Given the description of an element on the screen output the (x, y) to click on. 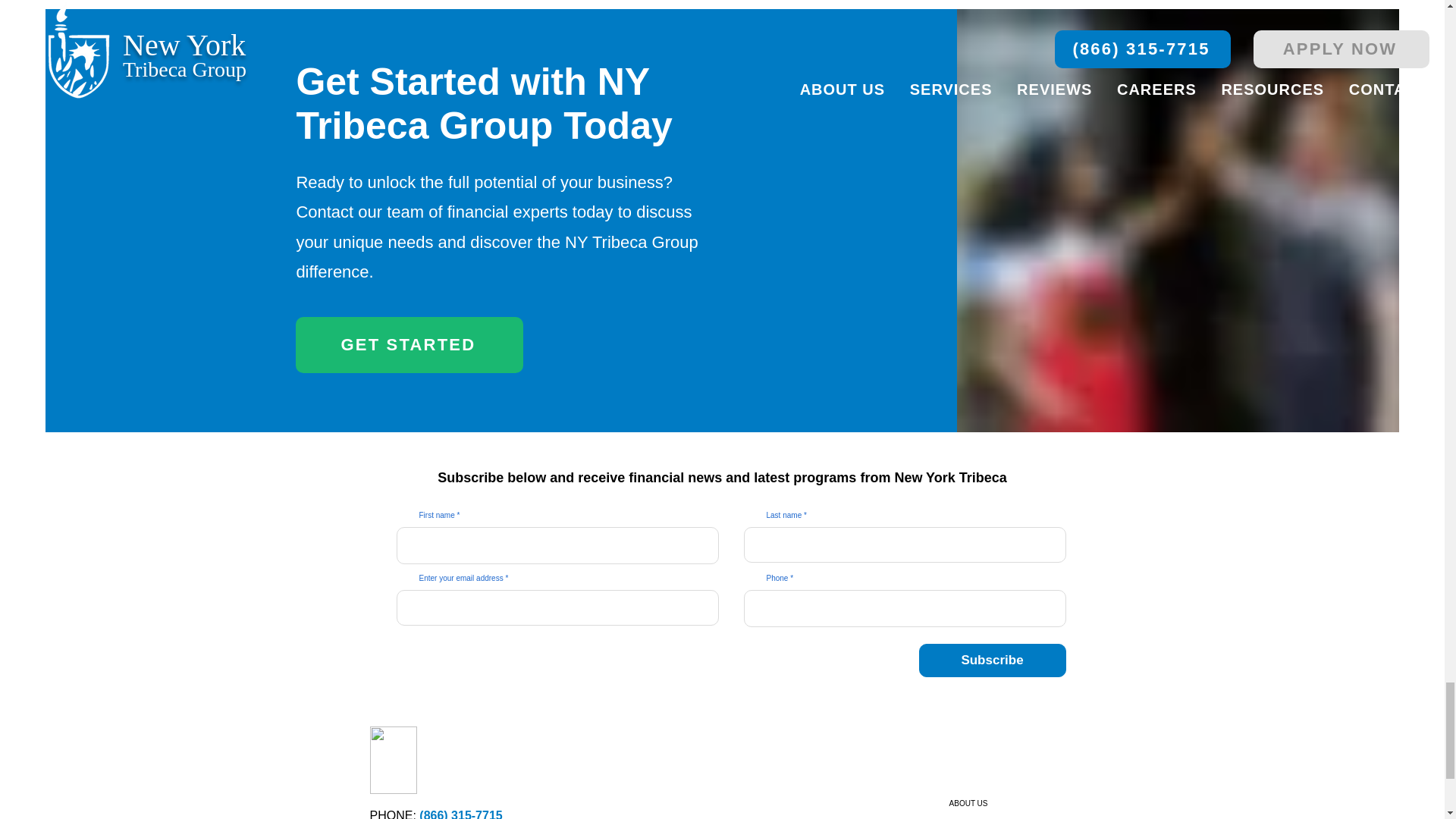
ABOUT US (942, 803)
GET STARTED (408, 344)
SERVICES (942, 816)
Subscribe (991, 660)
